Given the description of an element on the screen output the (x, y) to click on. 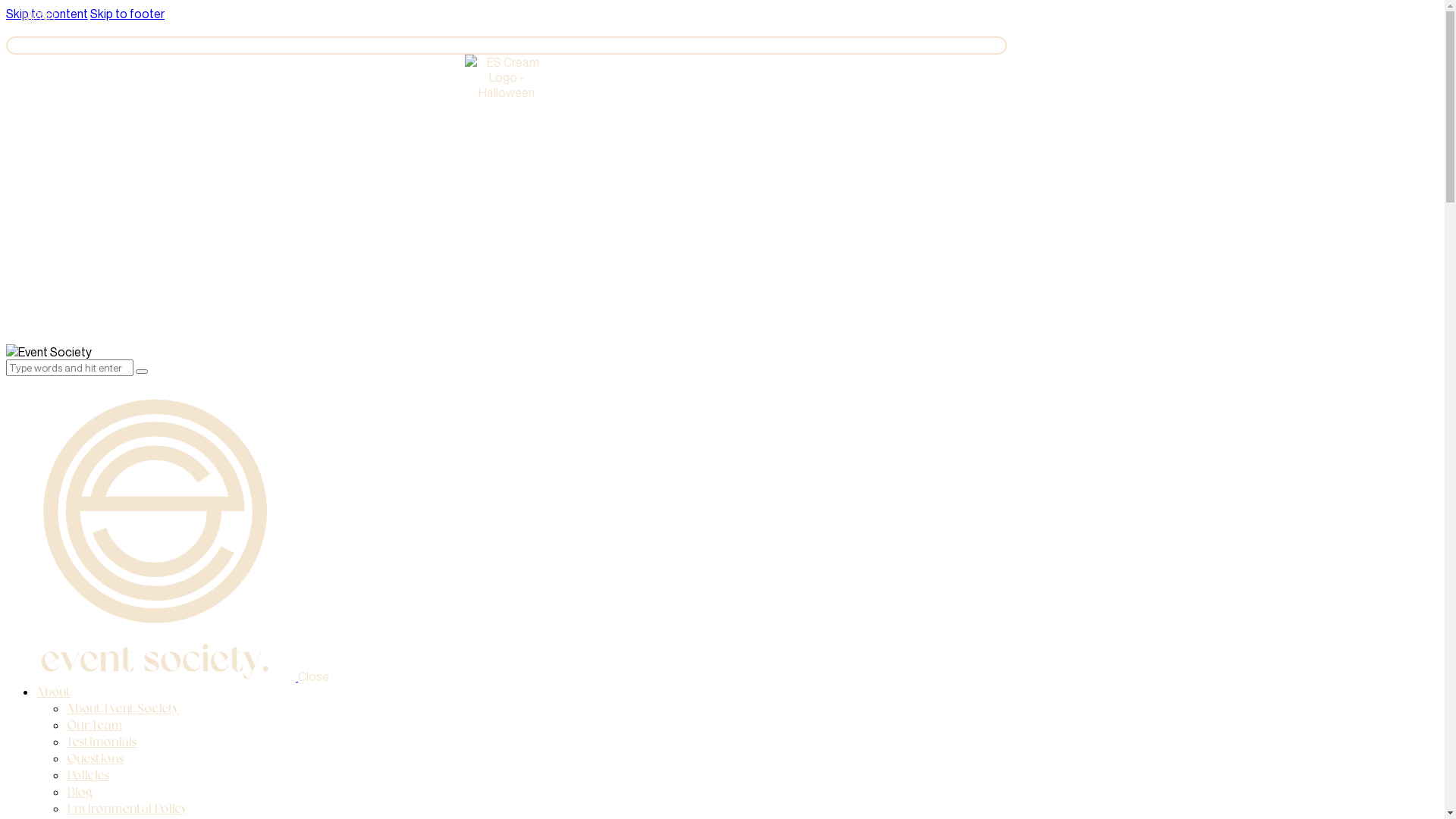
Environmental Policy Element type: text (126, 807)
Our Team Element type: text (94, 724)
Halloween Element type: hover (506, 199)
Blog Element type: text (79, 791)
Testimonials Element type: text (101, 741)
About Element type: text (53, 691)
Policies Element type: text (87, 774)
Skip to footer Element type: text (127, 13)
Questions Element type: text (94, 757)
About Event Society Element type: text (122, 707)
Close Element type: text (313, 676)
Skip to content Element type: text (46, 13)
